Given the description of an element on the screen output the (x, y) to click on. 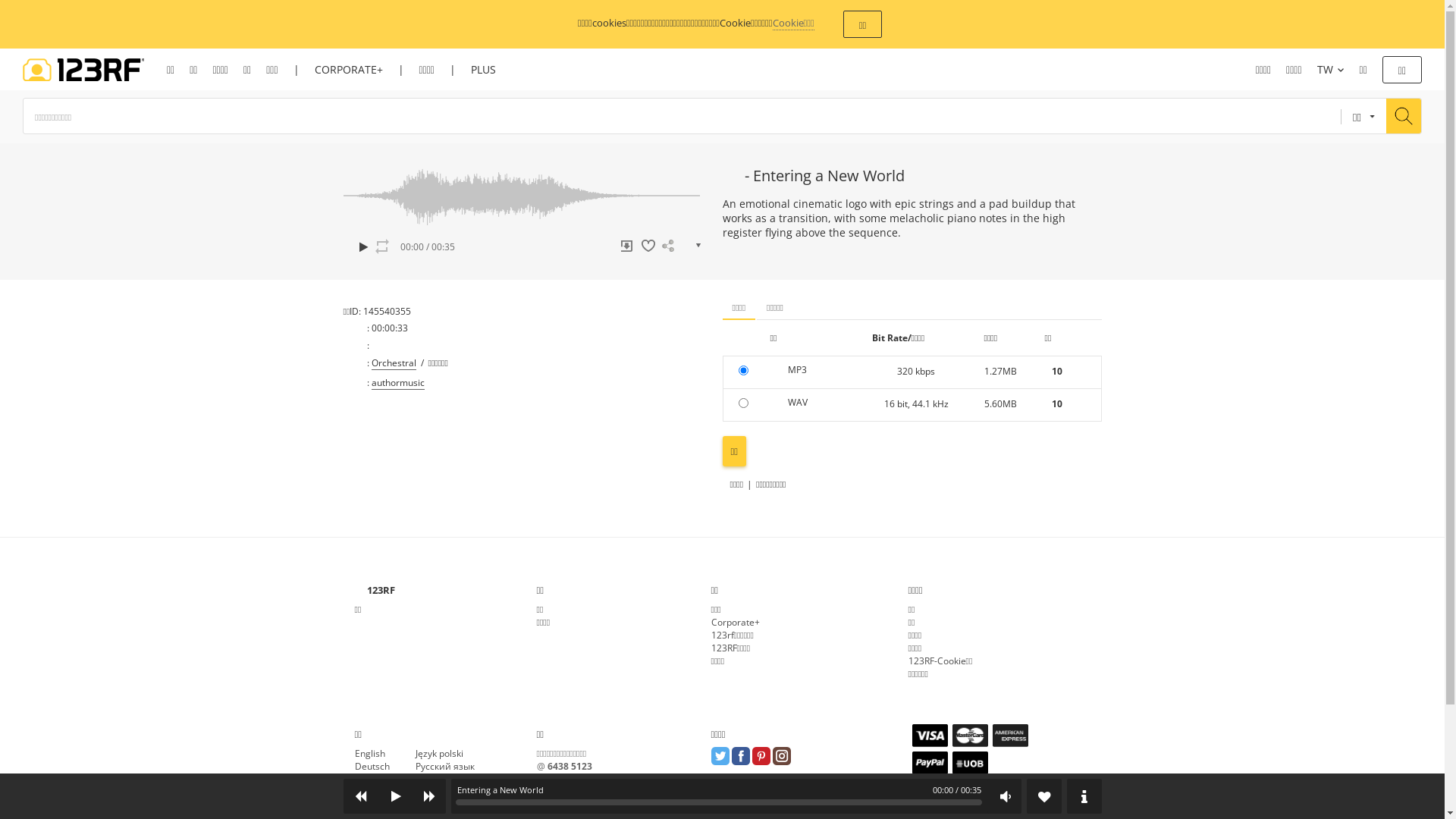
authormusic Element type: text (397, 382)
Follow us on Pinterest Element type: hover (761, 755)
Follow us on Instagram Element type: hover (780, 755)
Follow us on Twitter Element type: hover (720, 755)
Italiano Element type: text (369, 804)
Orchestral Element type: text (393, 363)
TW Element type: text (1330, 69)
Join us on Facebook Element type: hover (740, 755)
English Element type: text (369, 752)
Corporate+ Element type: text (735, 621)
Deutsch Element type: text (371, 765)
